Given the description of an element on the screen output the (x, y) to click on. 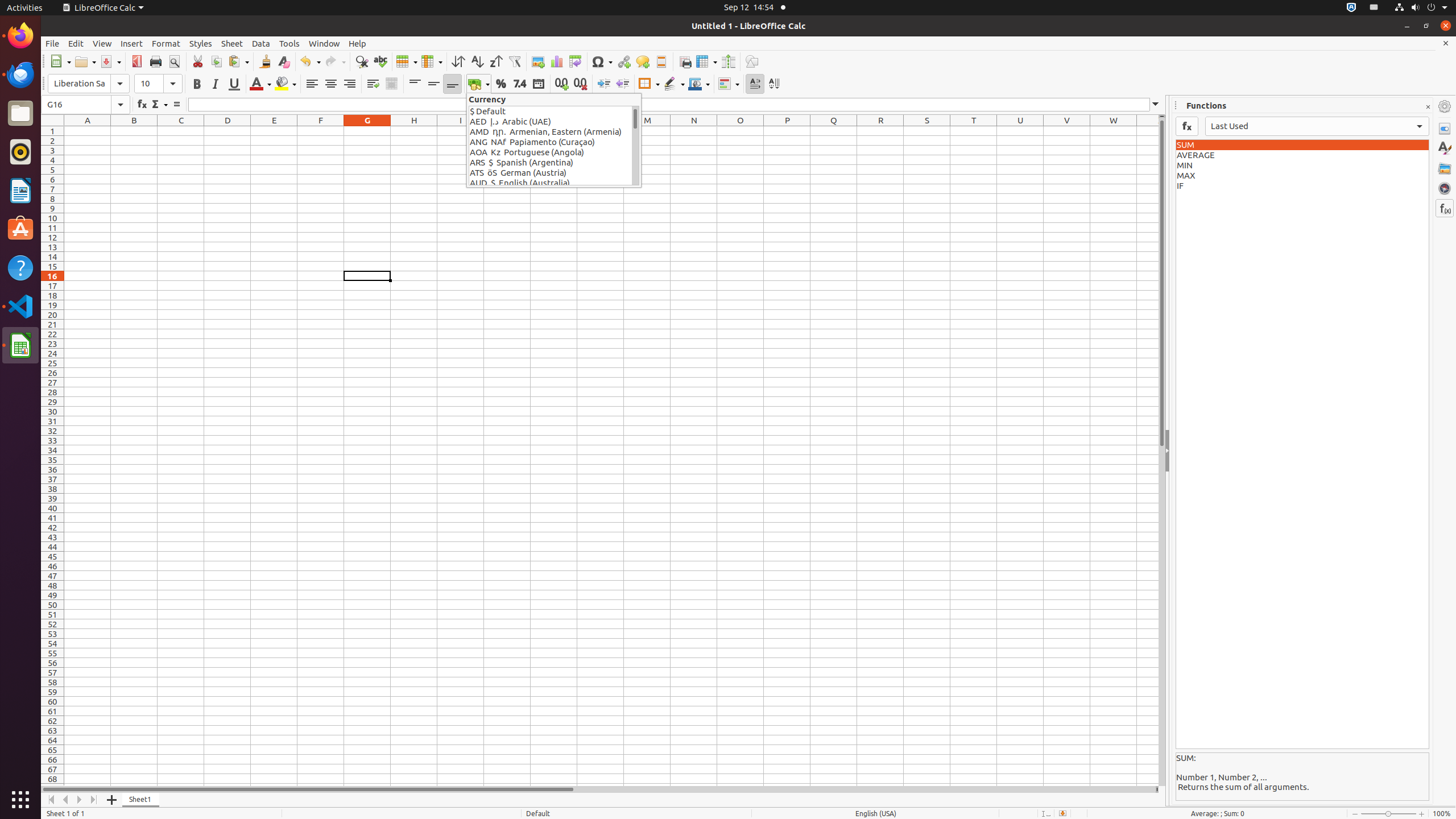
Wrap Text Element type: push-button (372, 83)
Function Wizard Element type: push-button (141, 104)
Find & Replace Element type: toggle-button (361, 61)
Cut Element type: push-button (197, 61)
Row Element type: push-button (406, 61)
